Given the description of an element on the screen output the (x, y) to click on. 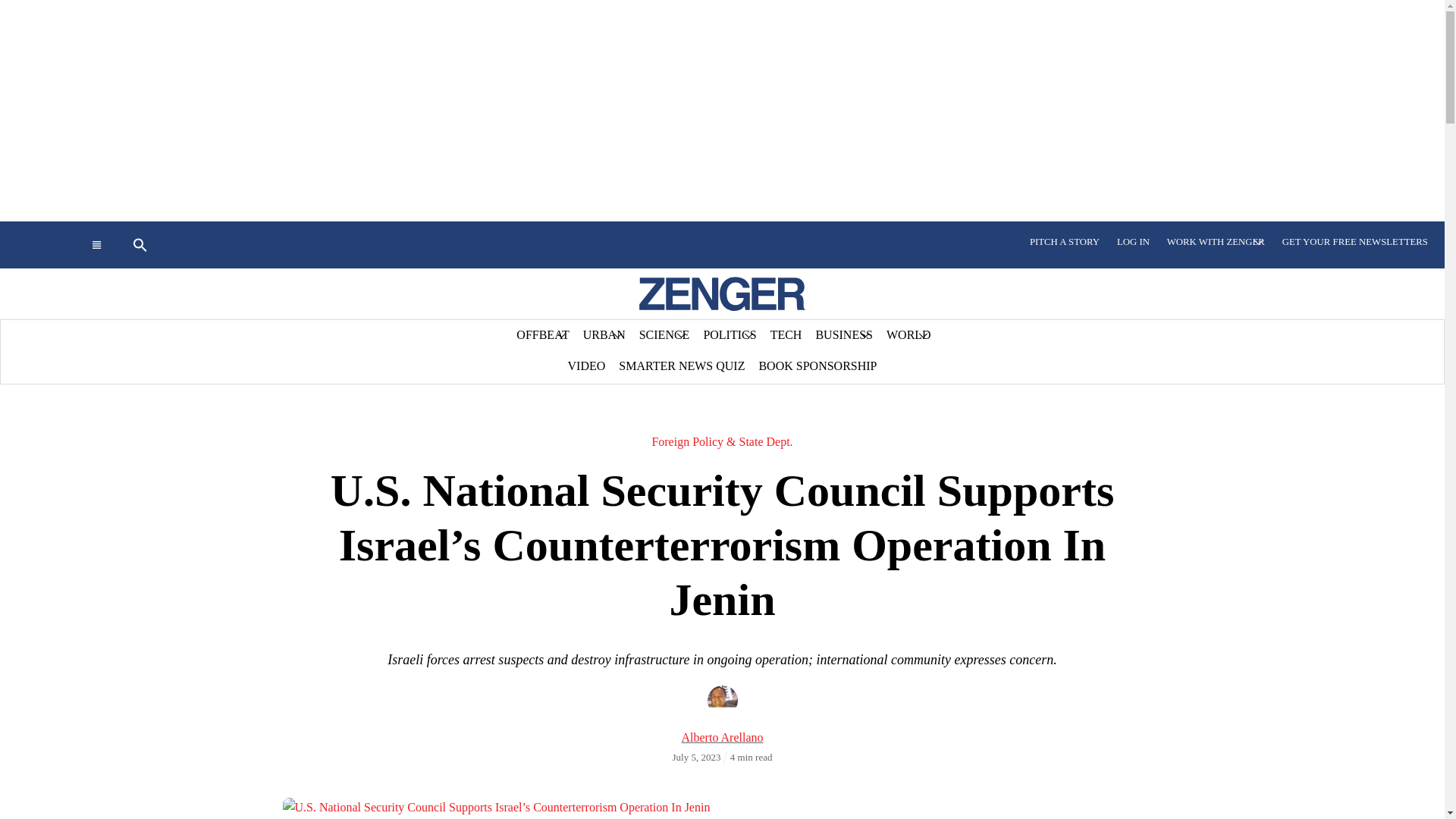
URBAN (603, 335)
TECH (785, 335)
BUSINESS (843, 335)
Zenger-Logo2023 (722, 293)
WORLD (908, 335)
POLITICS (728, 335)
LOG IN (1132, 242)
WORK WITH ZENGER (1215, 242)
SCIENCE (664, 335)
OFFBEAT (542, 335)
PITCH A STORY (1065, 242)
GET YOUR FREE NEWSLETTERS (1354, 242)
